Given the description of an element on the screen output the (x, y) to click on. 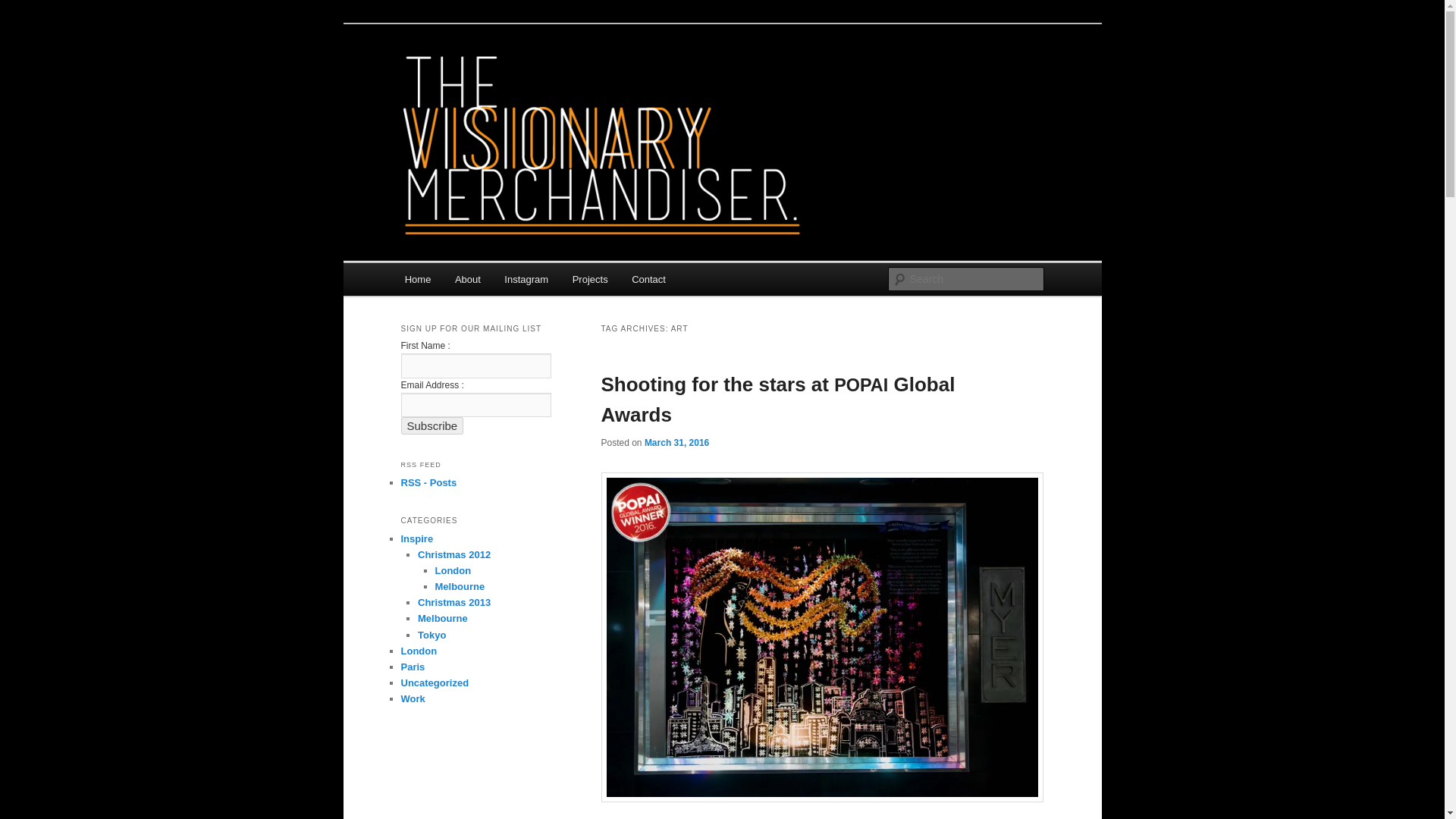
Contact (648, 278)
Instagram (526, 278)
March 31, 2016 (677, 441)
Shooting for the stars at POPAI Global Awards (777, 399)
About (467, 278)
Subscribe to Posts (428, 482)
Home (417, 278)
10:56 pm (677, 441)
Subscribe (431, 425)
Search (24, 8)
Projects (590, 278)
